Given the description of an element on the screen output the (x, y) to click on. 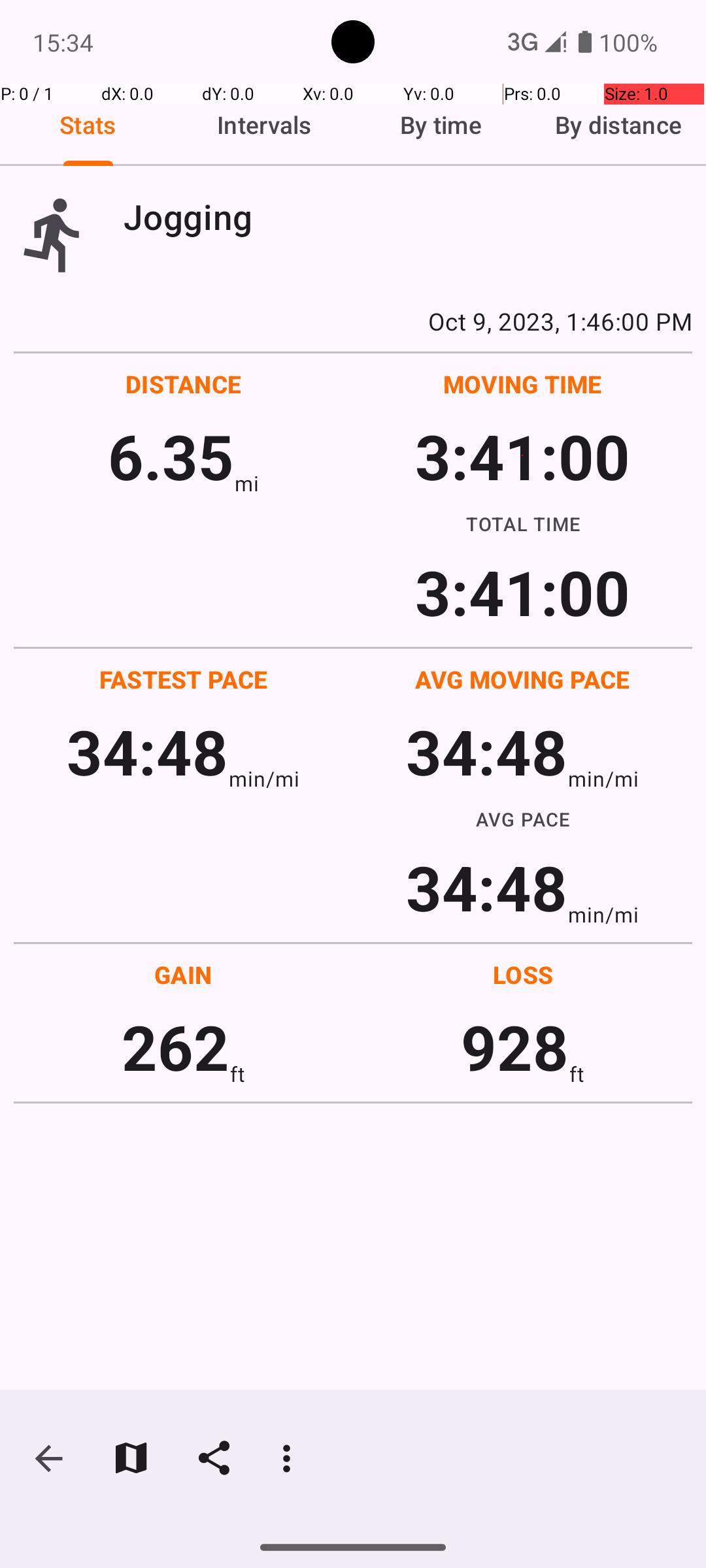
Jogging Element type: android.widget.TextView (407, 216)
Oct 9, 2023, 1:46:00 PM Element type: android.widget.TextView (352, 320)
6.35 Element type: android.widget.TextView (170, 455)
3:41:00 Element type: android.widget.TextView (522, 455)
FASTEST PACE Element type: android.widget.TextView (183, 678)
AVG MOVING PACE Element type: android.widget.TextView (522, 678)
34:48 Element type: android.widget.TextView (147, 750)
min/mi Element type: android.widget.TextView (264, 778)
AVG PACE Element type: android.widget.TextView (522, 818)
262 Element type: android.widget.TextView (175, 1045)
928 Element type: android.widget.TextView (514, 1045)
